Given the description of an element on the screen output the (x, y) to click on. 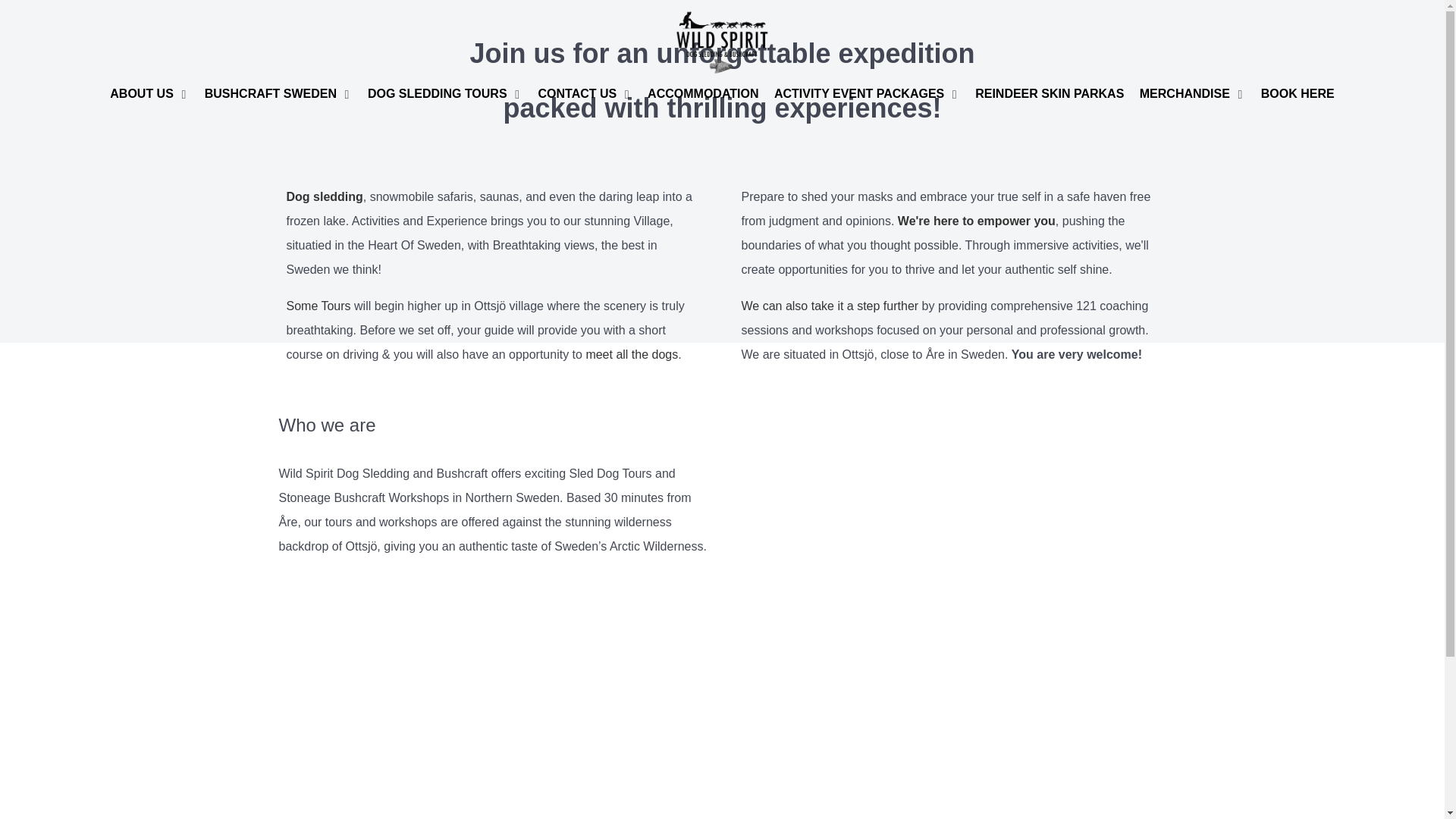
DOG SLEDDING TOURS (445, 95)
BUSHCRAFT SWEDEN (278, 95)
CONTACT US (584, 95)
ABOUT US (149, 95)
